Given the description of an element on the screen output the (x, y) to click on. 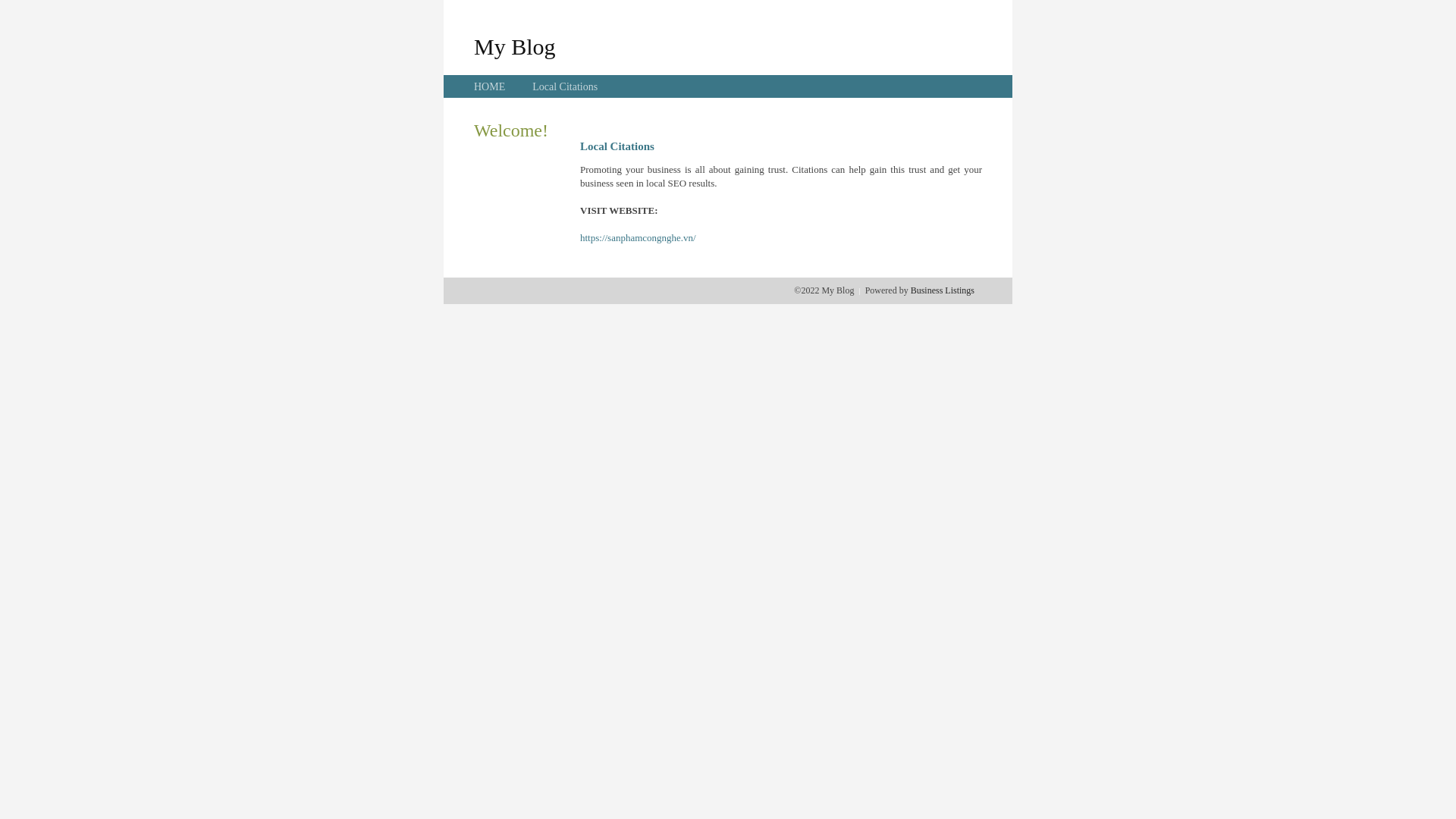
https://sanphamcongnghe.vn/ Element type: text (638, 237)
My Blog Element type: text (514, 46)
Local Citations Element type: text (564, 86)
Business Listings Element type: text (942, 290)
HOME Element type: text (489, 86)
